Given the description of an element on the screen output the (x, y) to click on. 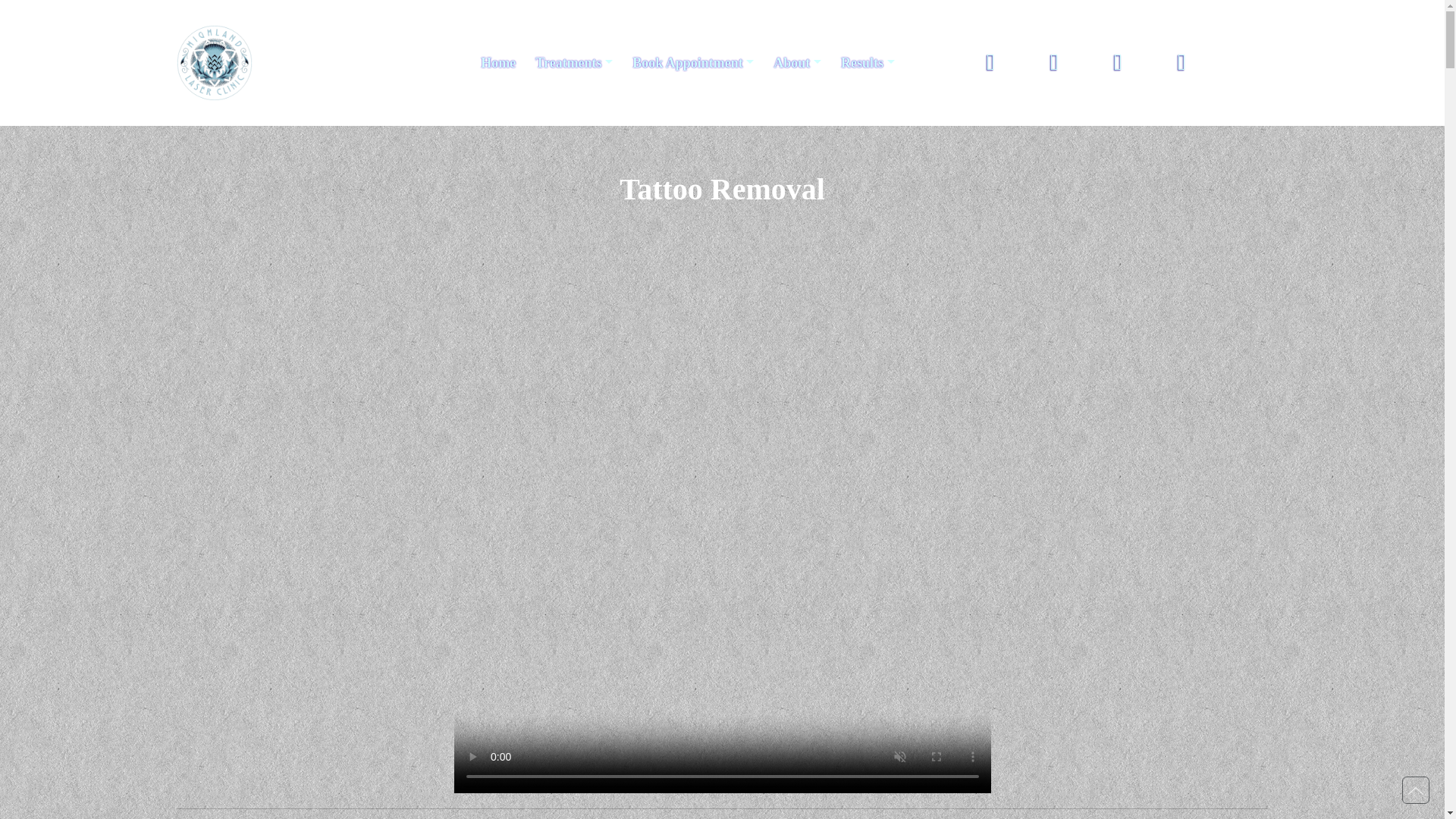
About (797, 62)
Home (497, 62)
Results (867, 62)
Book Appointment (693, 62)
Treatments (573, 62)
